Given the description of an element on the screen output the (x, y) to click on. 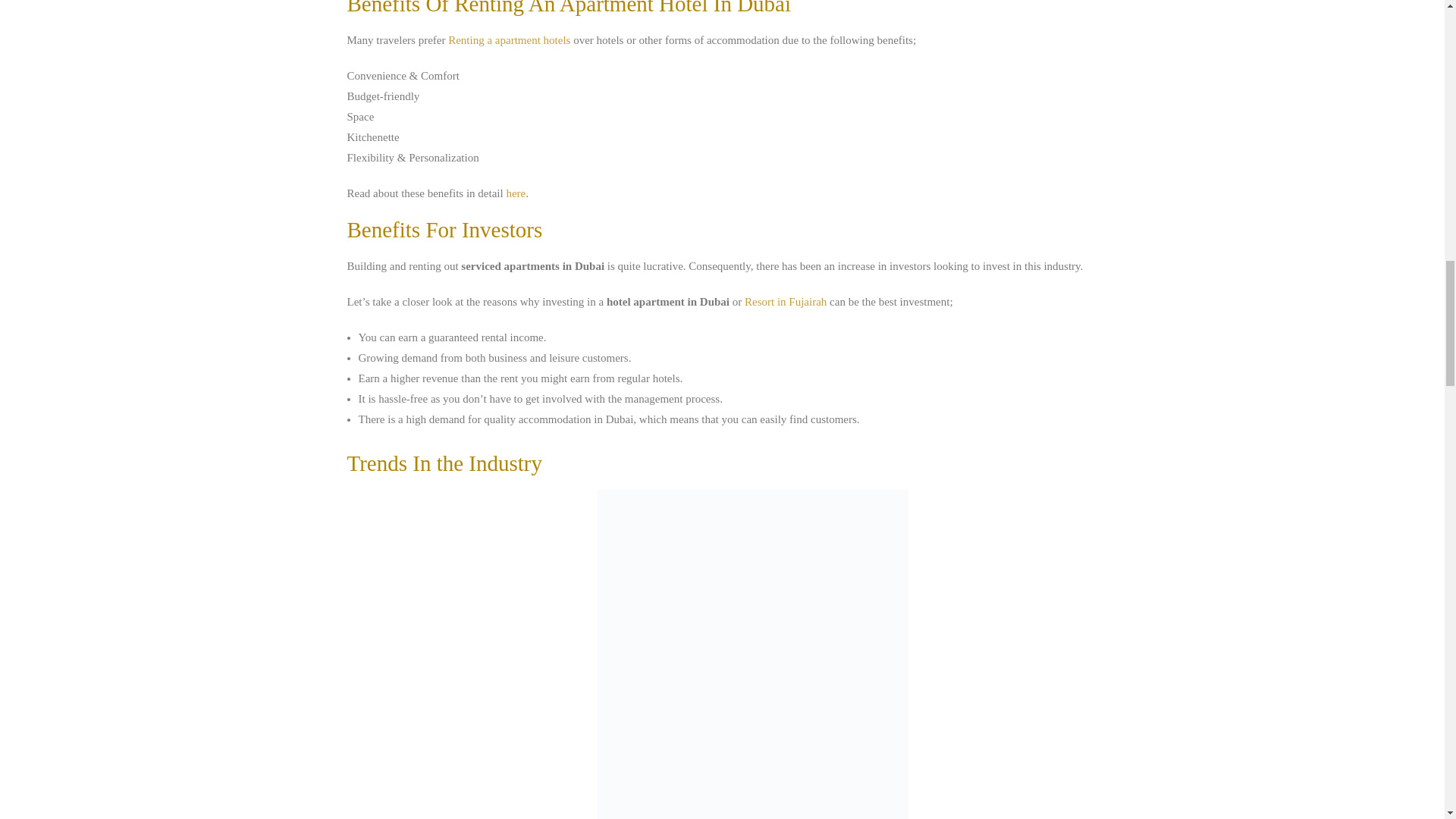
here (515, 193)
Resort in Fujairah (785, 301)
Renting a apartment hotels (509, 39)
